Given the description of an element on the screen output the (x, y) to click on. 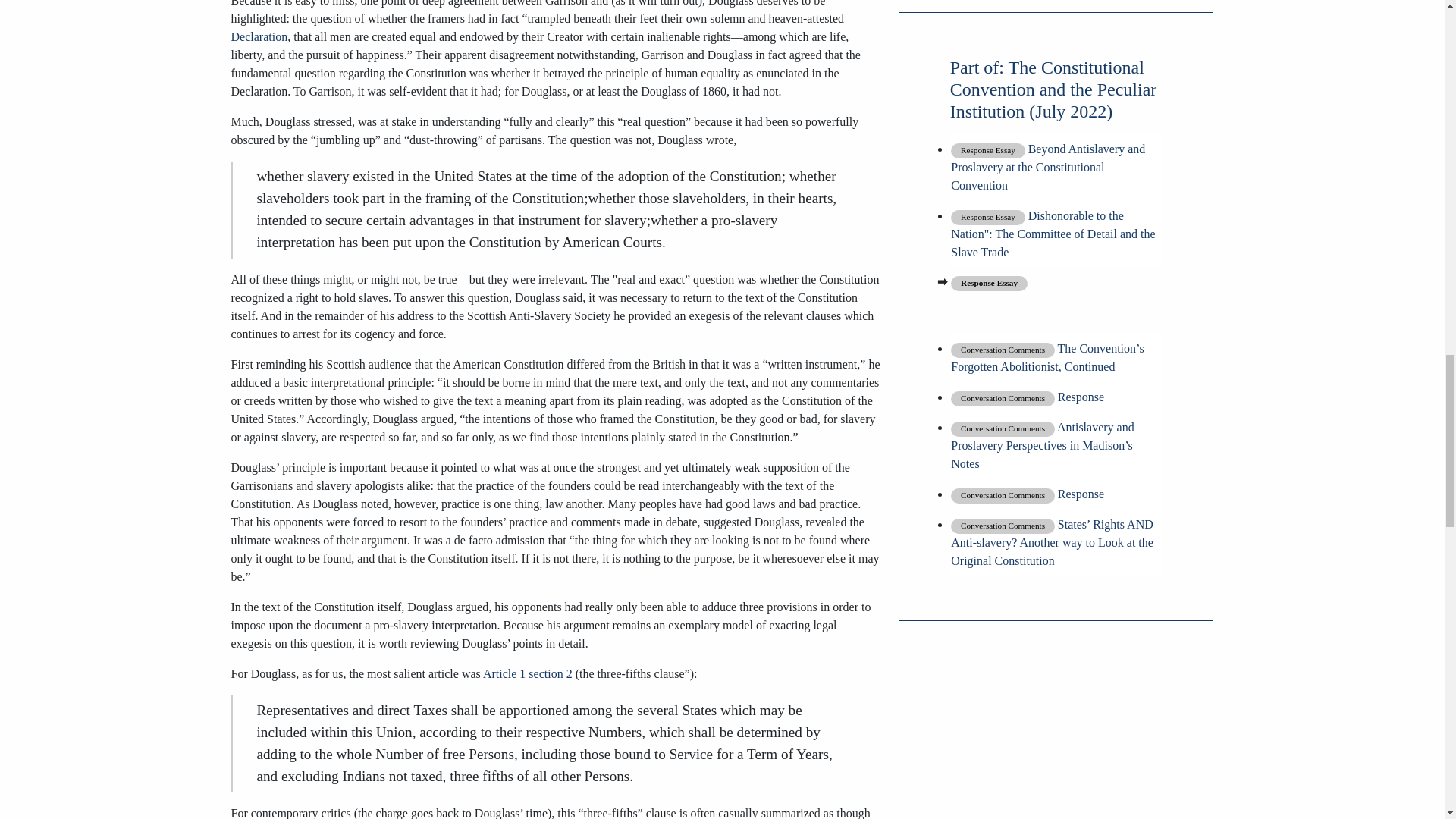
Article 1 section 2 (527, 673)
Declaration (258, 36)
